Given the description of an element on the screen output the (x, y) to click on. 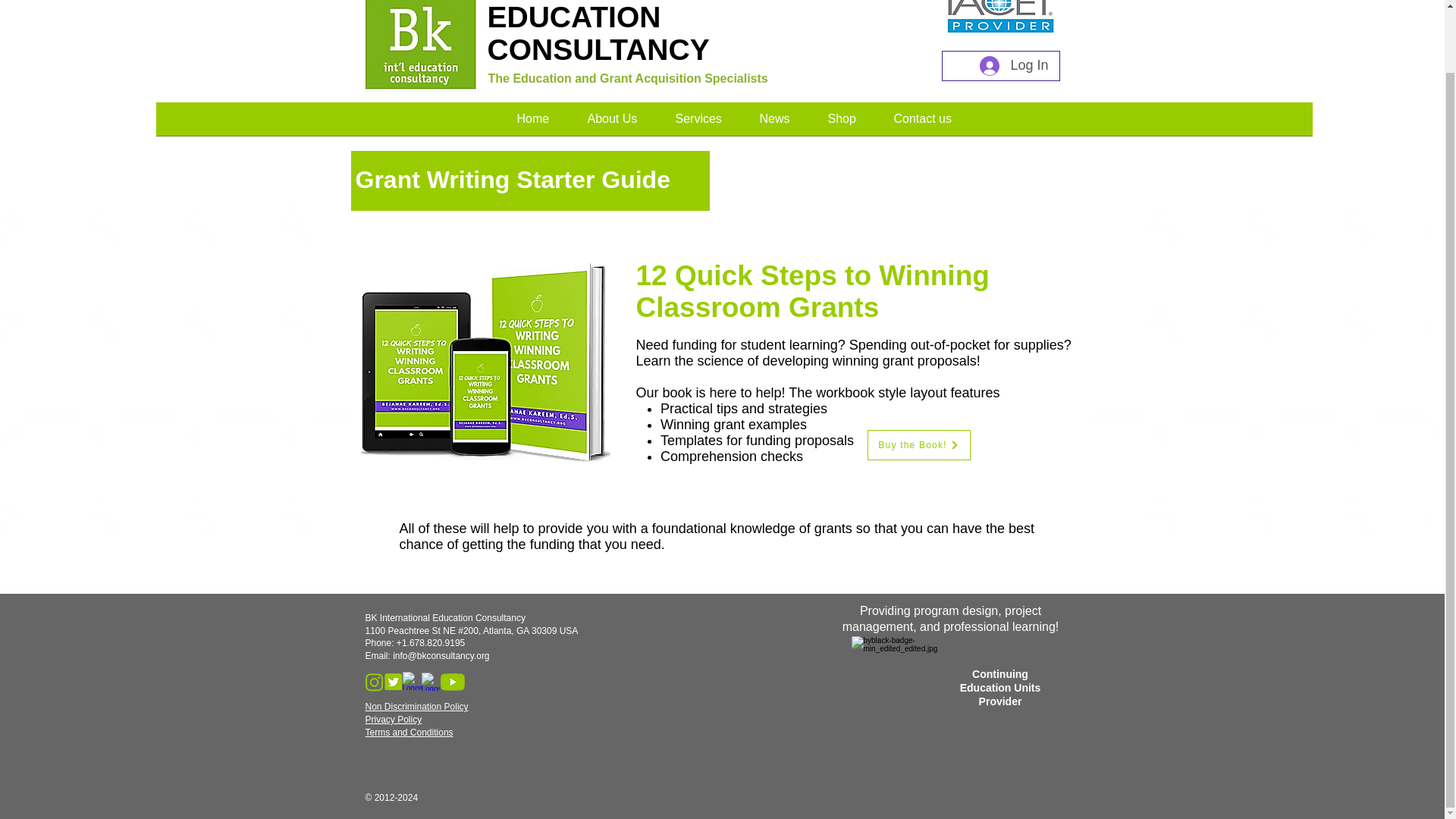
Log In (1013, 65)
Contact us (923, 123)
Privacy Policy (393, 719)
Shop (841, 123)
byblack-badge.jpg (901, 687)
Terms and Conditions (408, 732)
Home (532, 123)
Buy the Book! (919, 444)
News (773, 123)
About Us (612, 123)
